Given the description of an element on the screen output the (x, y) to click on. 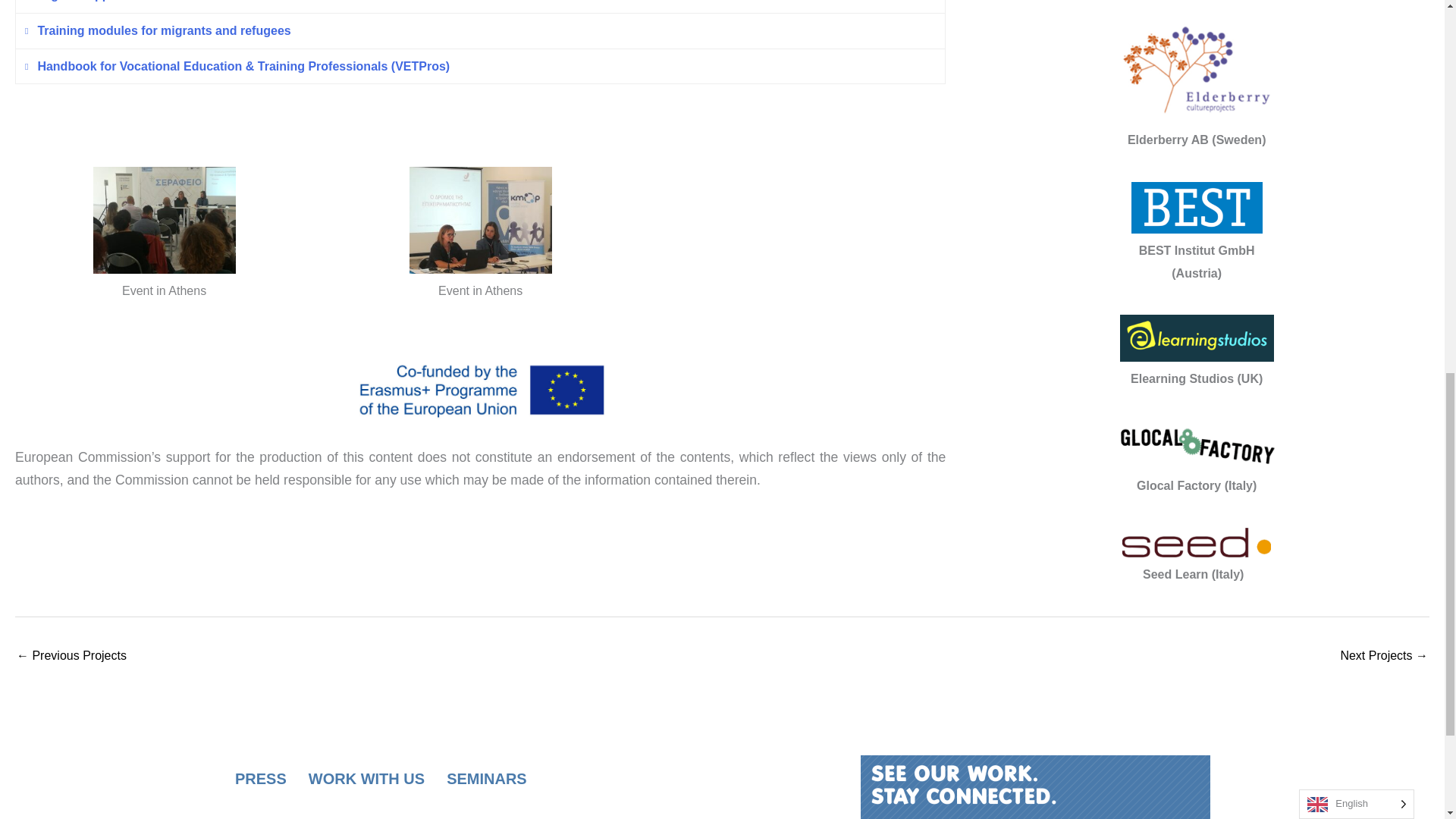
SEMINARS (486, 778)
TRAINVOL (1383, 656)
nl-31 (962, 784)
Training modules for migrants and refugees (480, 30)
BeOld (71, 656)
WORK WITH US (366, 778)
PRESS (260, 778)
